Given the description of an element on the screen output the (x, y) to click on. 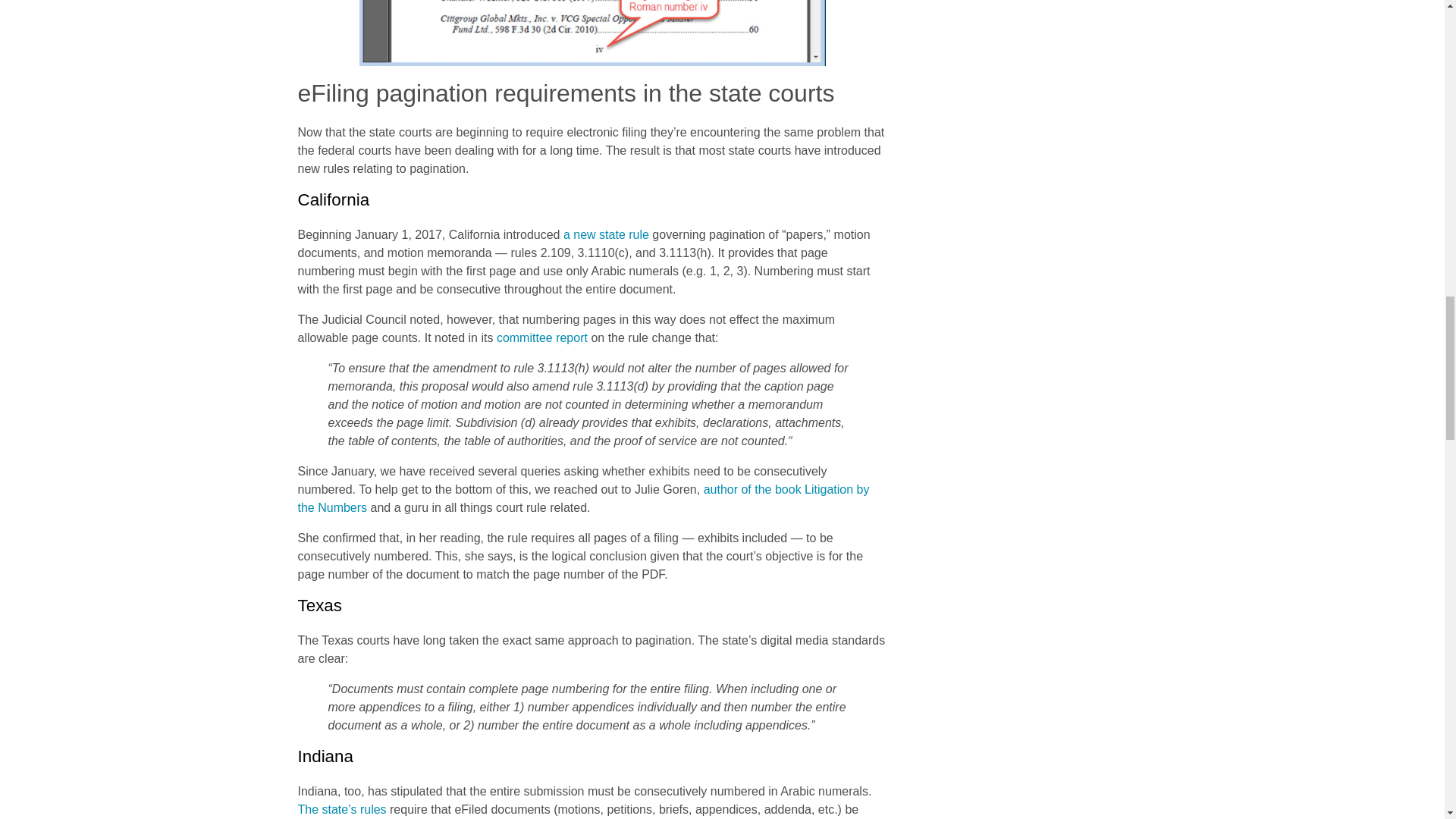
author of the book Litigation by the Numbers (583, 498)
a new state rule (606, 234)
committee report (542, 337)
